Given the description of an element on the screen output the (x, y) to click on. 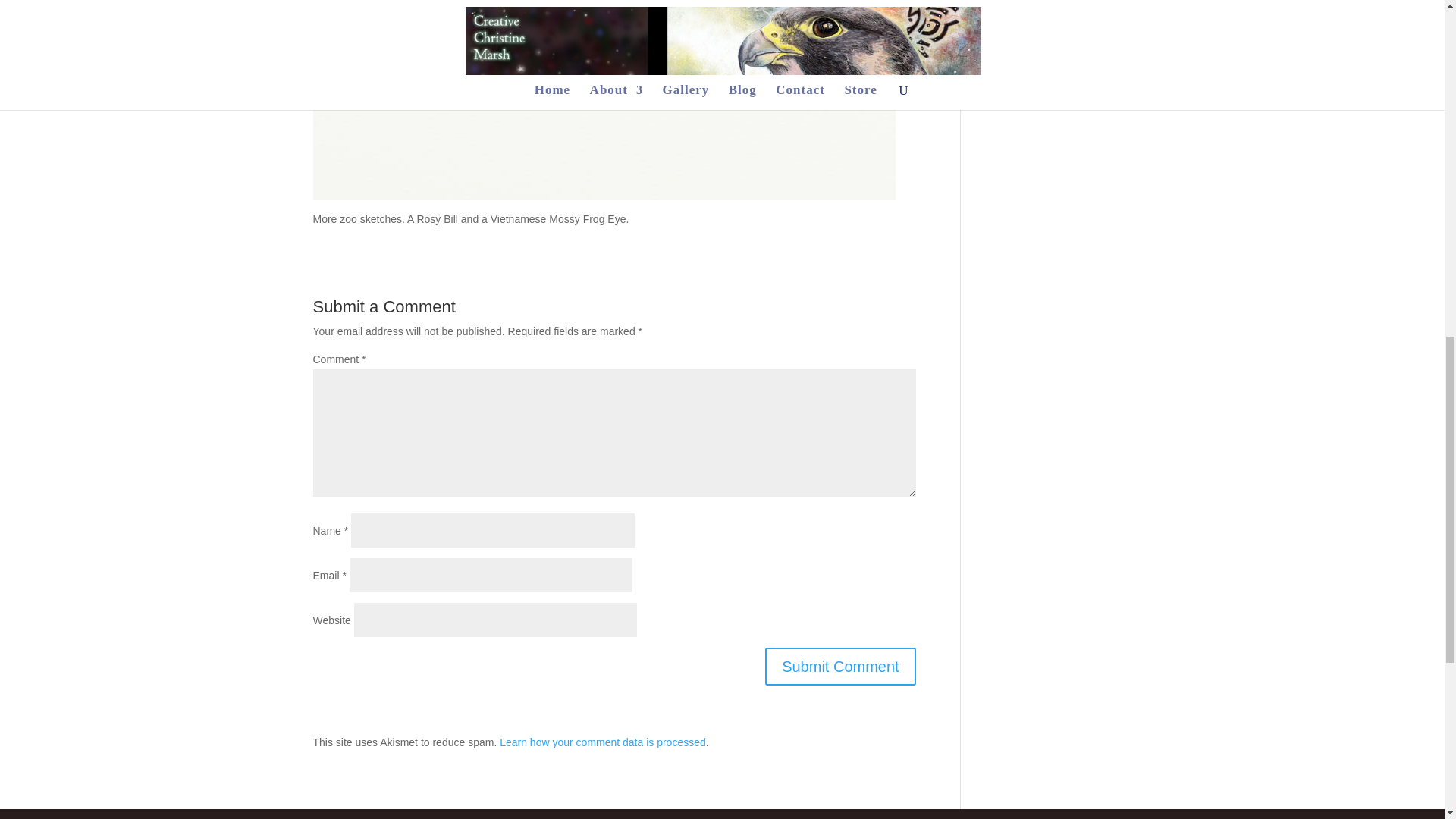
Submit Comment (840, 666)
Learn how your comment data is processed (602, 742)
Submit Comment (840, 666)
